Given the description of an element on the screen output the (x, y) to click on. 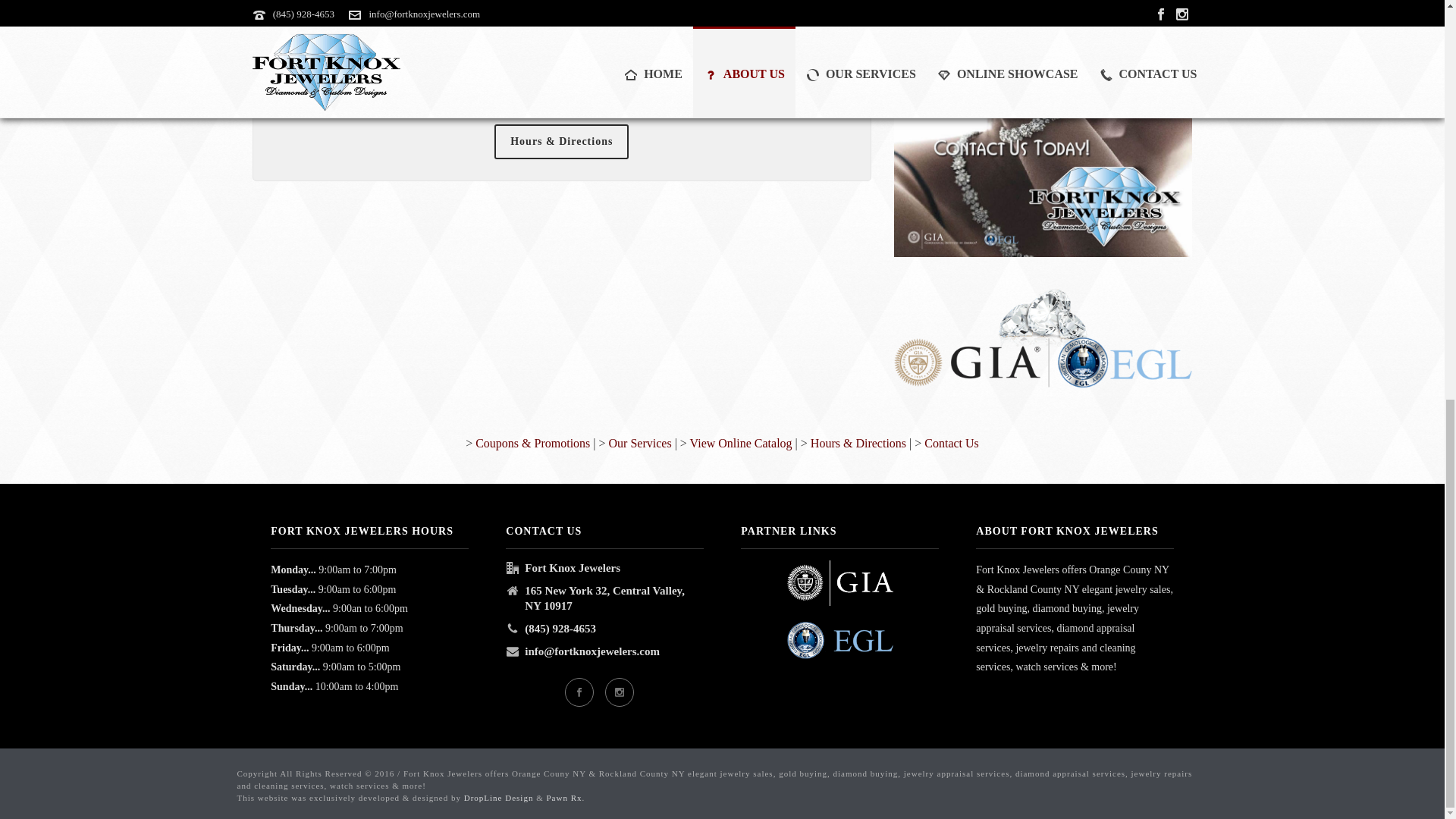
Follow Us on instagram (619, 692)
Follow Us on facebook (578, 692)
